Given the description of an element on the screen output the (x, y) to click on. 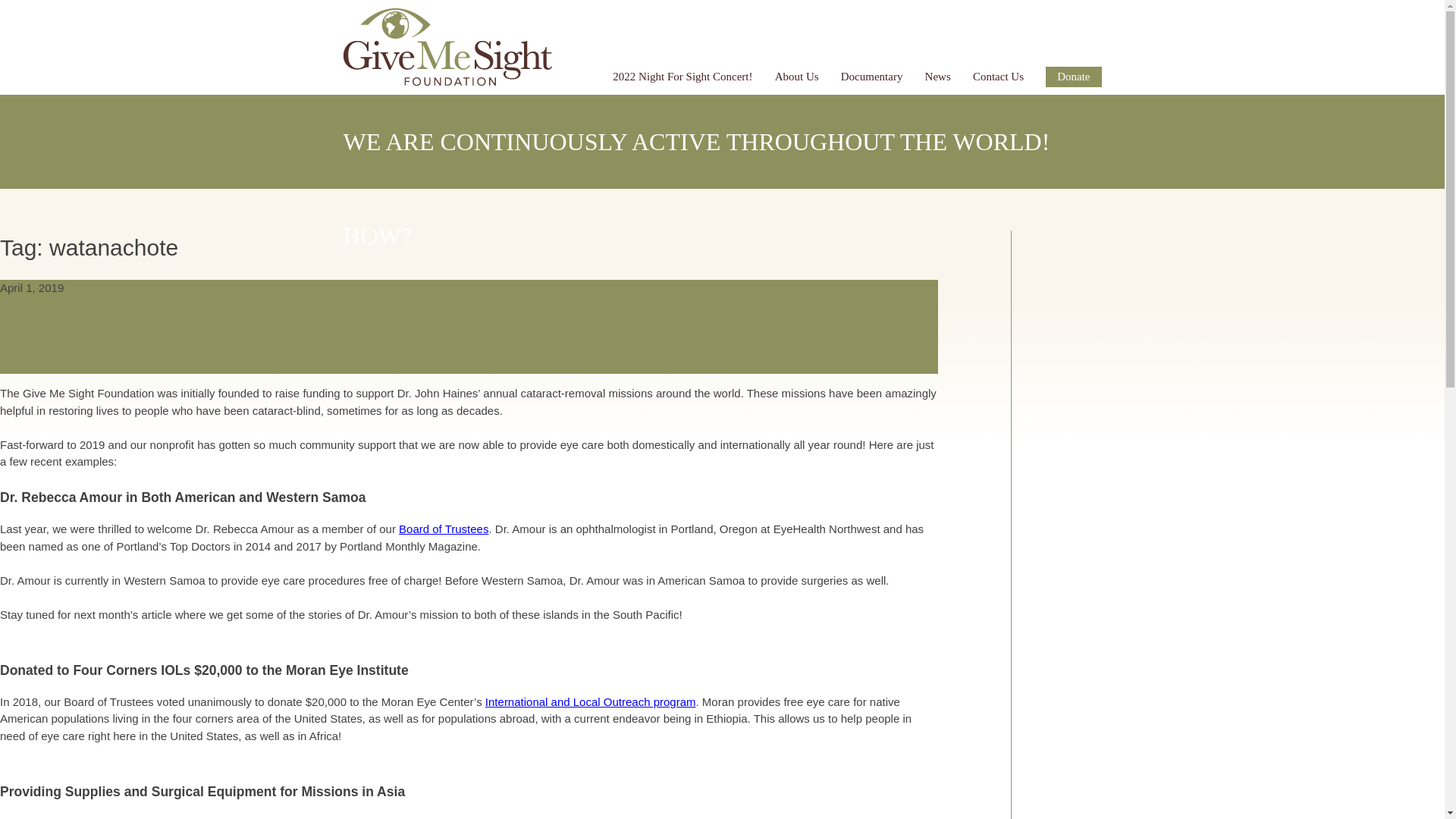
About Us (796, 76)
Contact Us (997, 76)
Donate (1072, 76)
Documentary (871, 76)
International and Local Outreach program (589, 701)
News (937, 76)
2022 Night For Sight Concert! (682, 76)
Board of Trustees (442, 528)
